Given the description of an element on the screen output the (x, y) to click on. 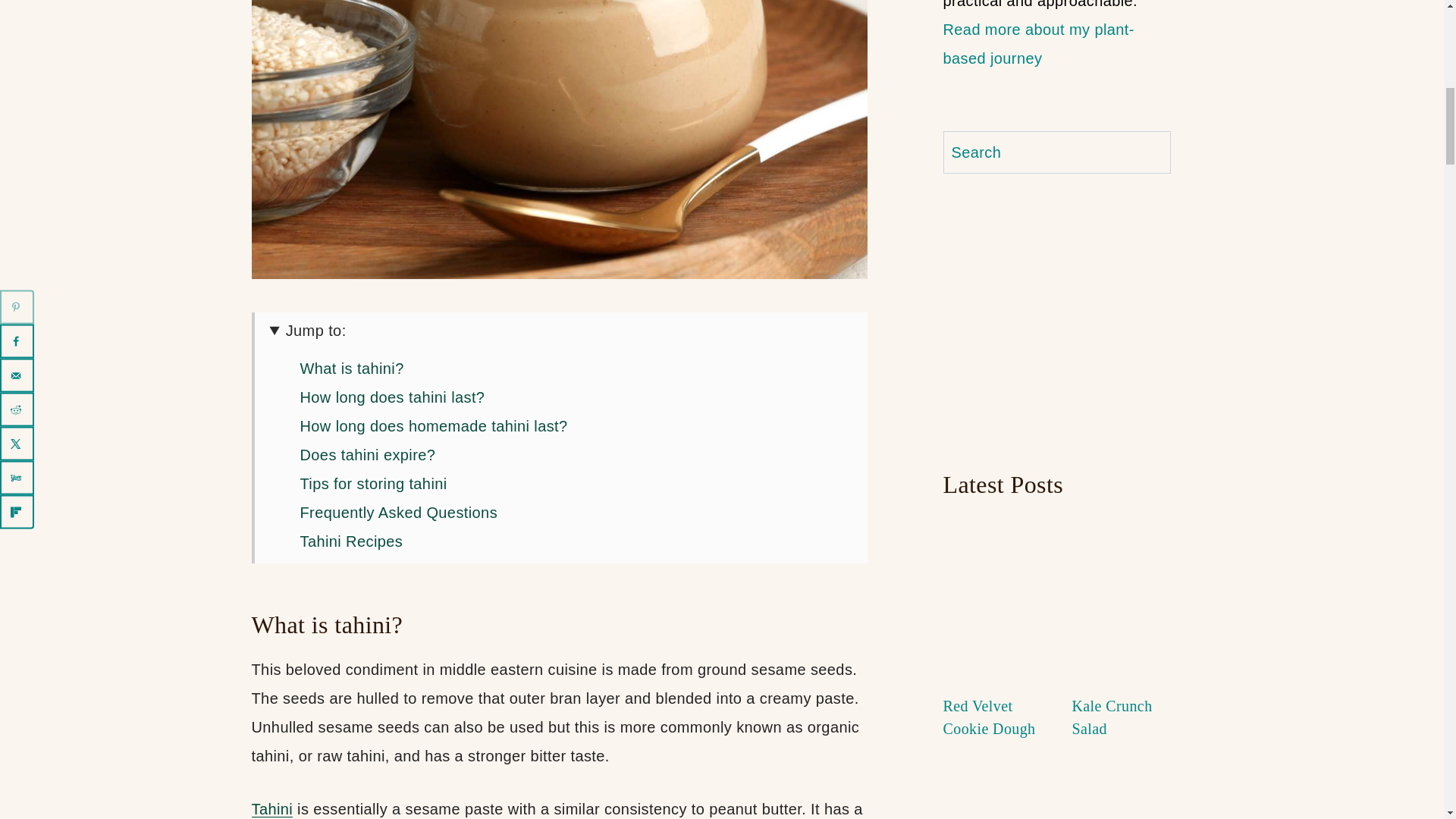
Does tahini expire? (367, 454)
What is tahini? (351, 368)
How long does homemade tahini last? (433, 425)
How long does tahini last? (391, 397)
Tips for storing tahini (372, 483)
